Given the description of an element on the screen output the (x, y) to click on. 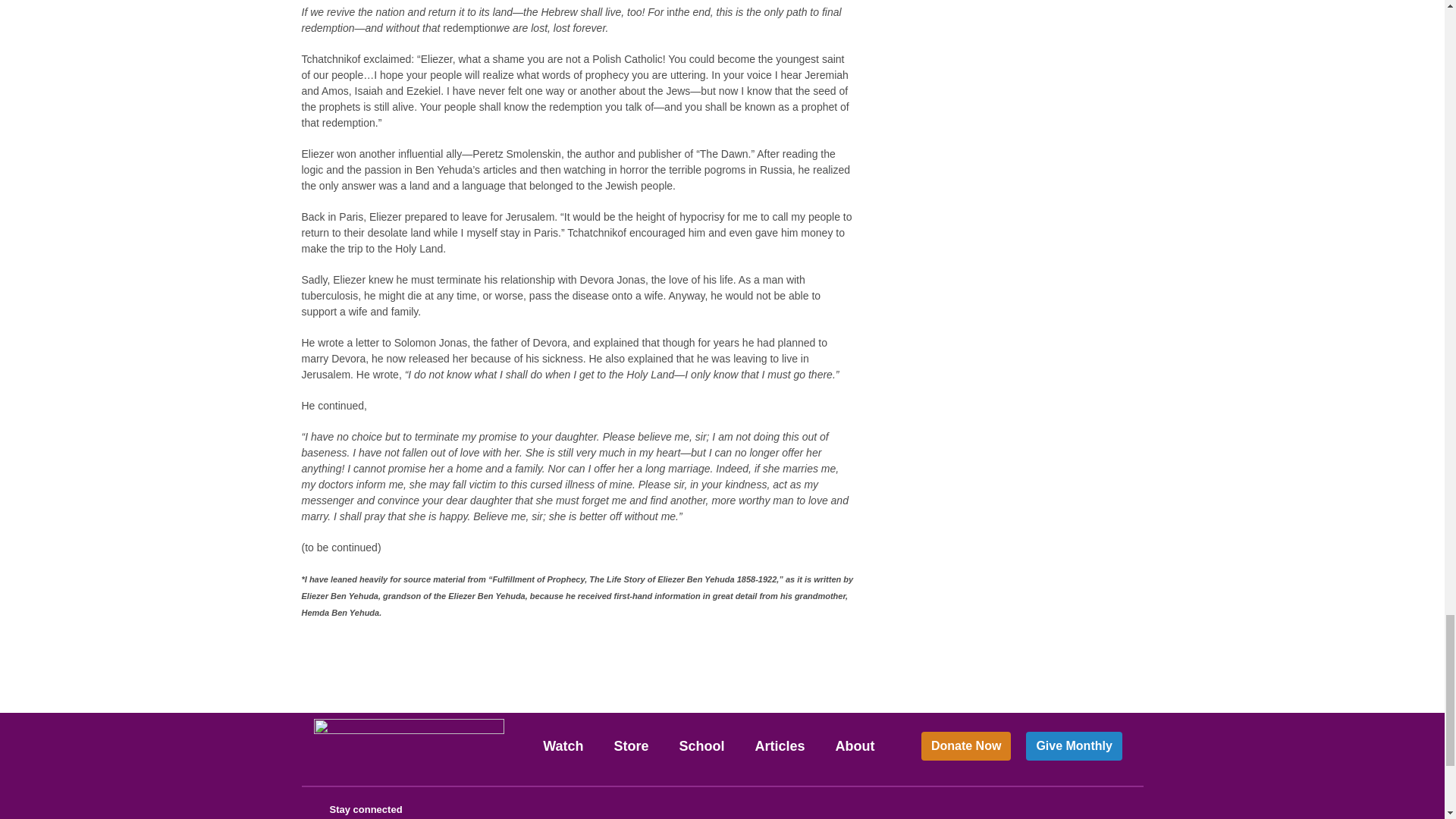
School (701, 746)
Store (631, 746)
Give Monthly (1073, 746)
Articles (780, 746)
Watch (563, 746)
Donate Now (965, 746)
About (855, 746)
